Given the description of an element on the screen output the (x, y) to click on. 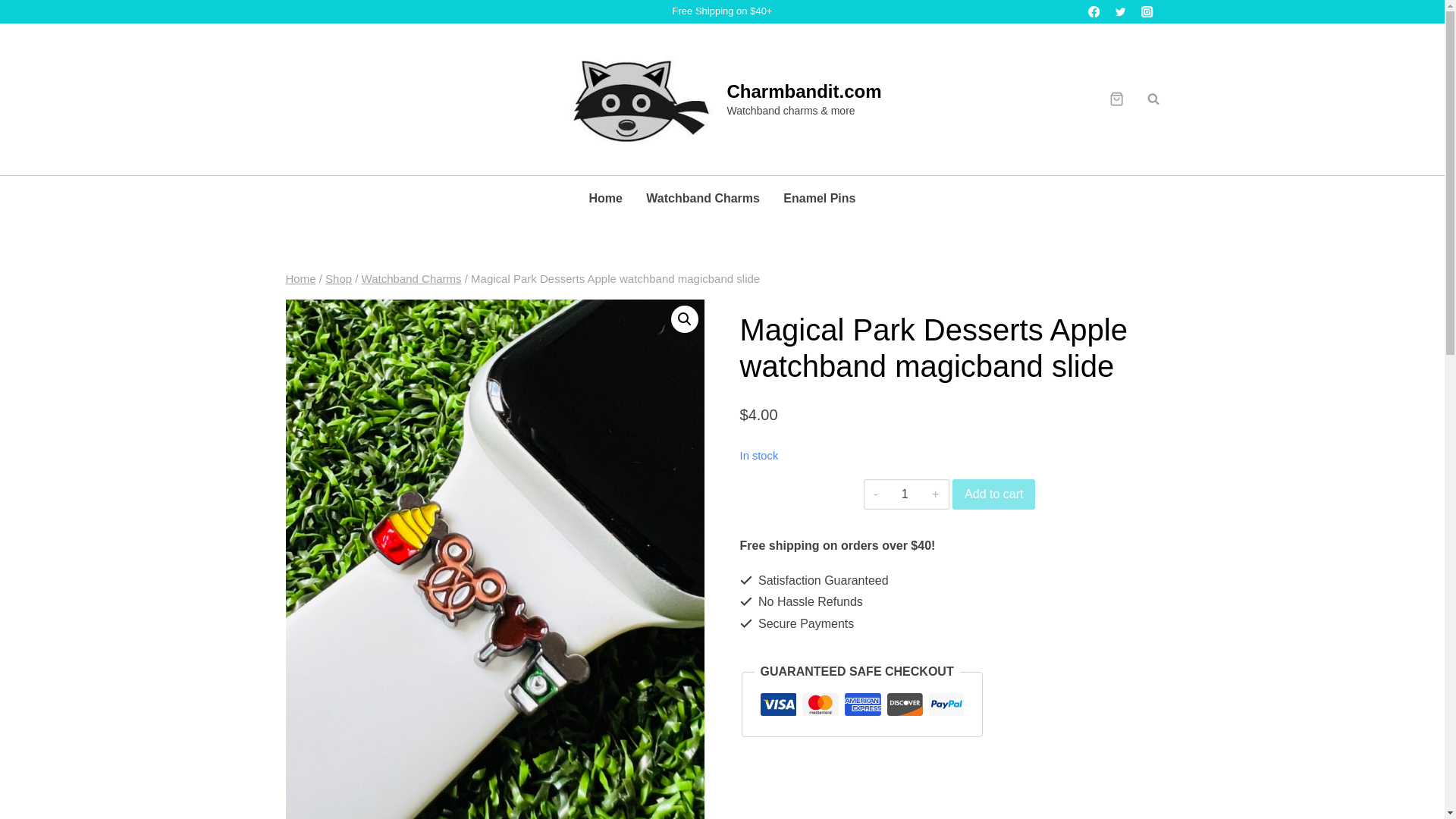
Enamel Pins (819, 198)
Watchband Charms (702, 198)
Watchband Charms (411, 278)
1 (904, 493)
Home (300, 278)
Home (605, 198)
Shop (338, 278)
Add to cart (993, 494)
